Given the description of an element on the screen output the (x, y) to click on. 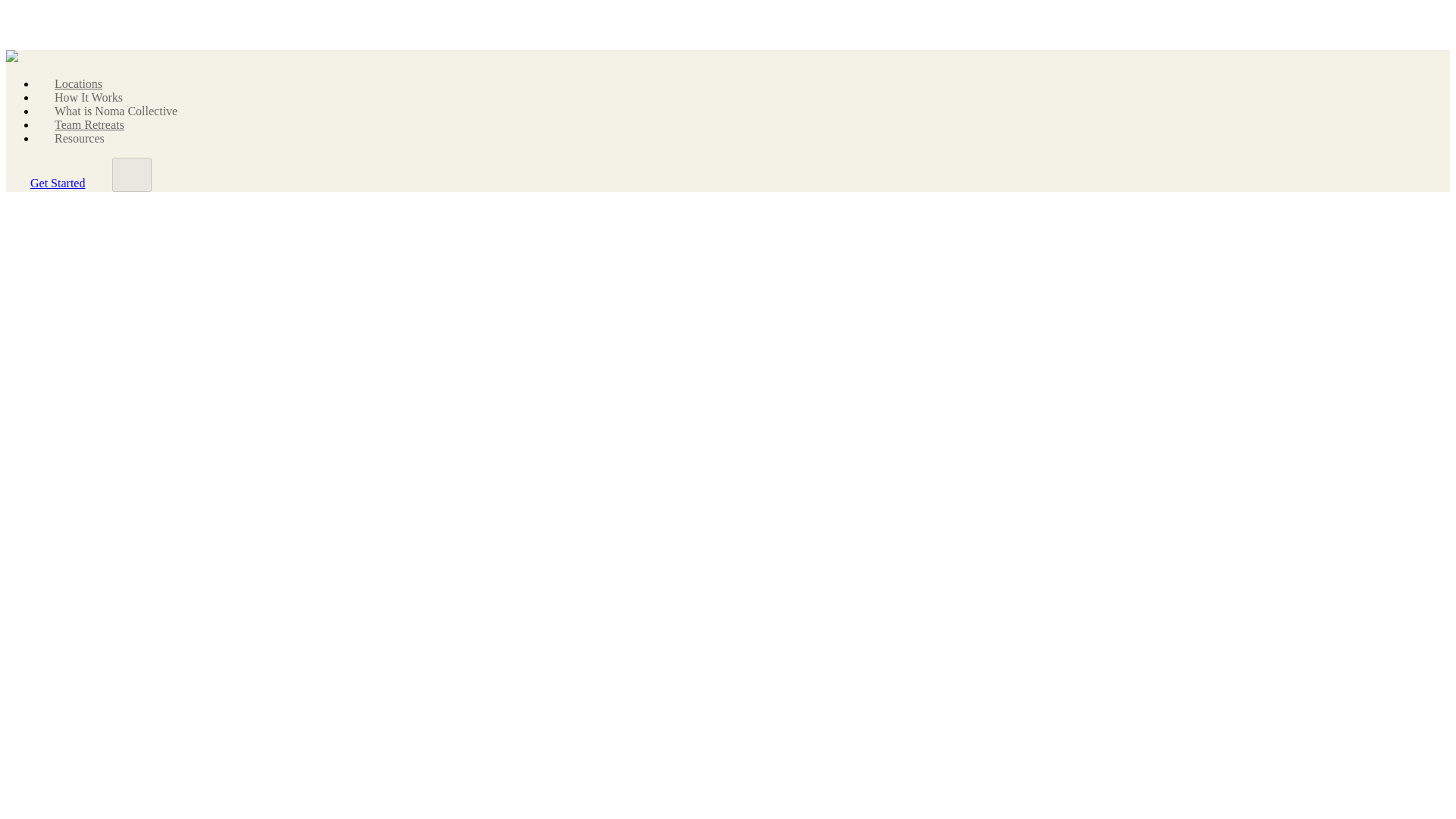
Team Retreats (89, 124)
Locations (78, 83)
Resources (79, 138)
What is Noma Collective (116, 110)
How It Works (88, 97)
